Given the description of an element on the screen output the (x, y) to click on. 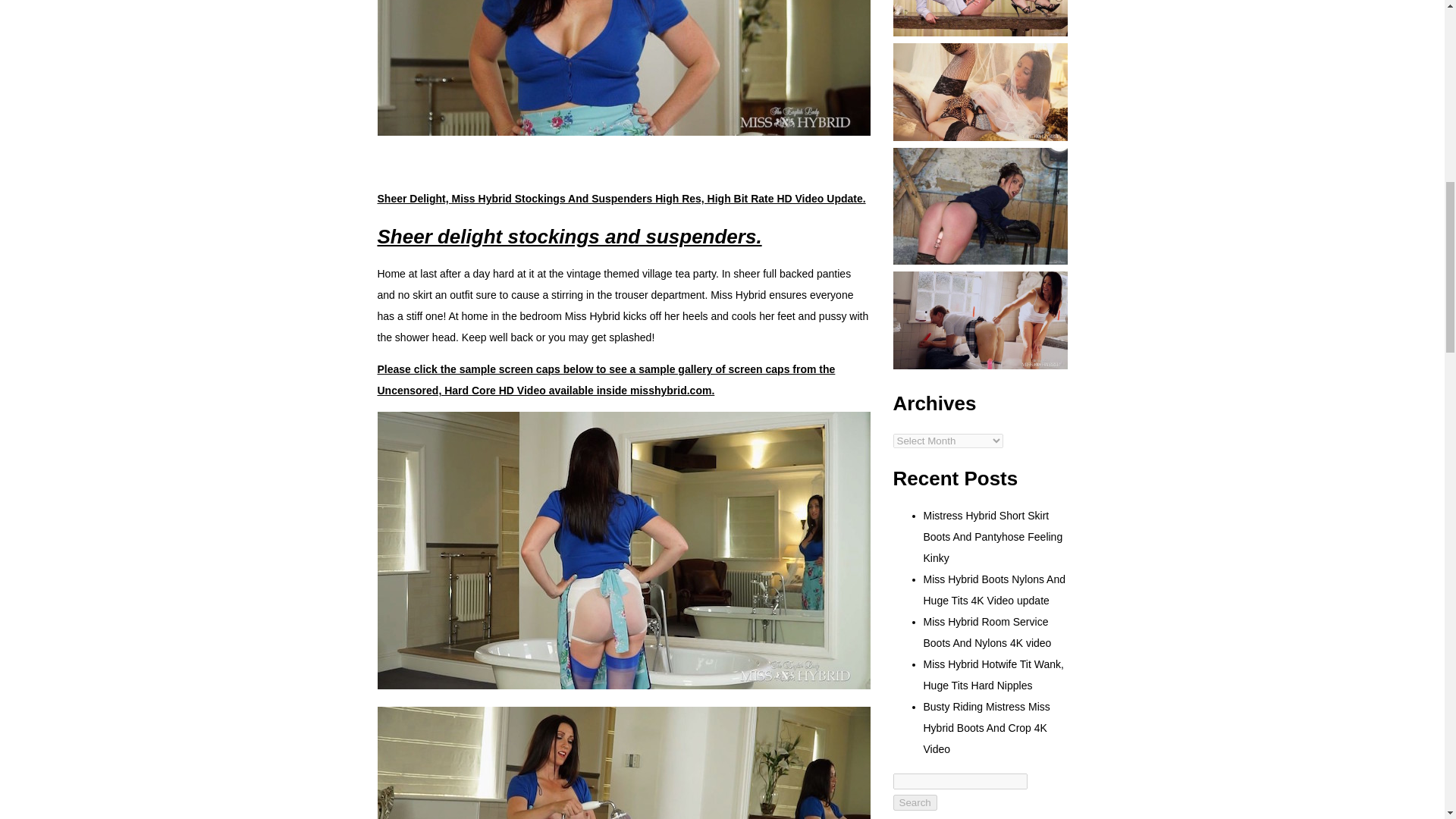
Busty Riding Mistress Miss Hybrid Boots And Crop 4K Video (986, 728)
Miss Hybrid Boots Nylons And Huge Tits 4K Video update (994, 589)
Miss Hybrid Room Service Boots And Nylons 4K video (987, 632)
Search (915, 802)
Search (915, 802)
Miss Hybrid Hotwife Tit Wank, Huge Tits Hard Nipples (993, 674)
